Given the description of an element on the screen output the (x, y) to click on. 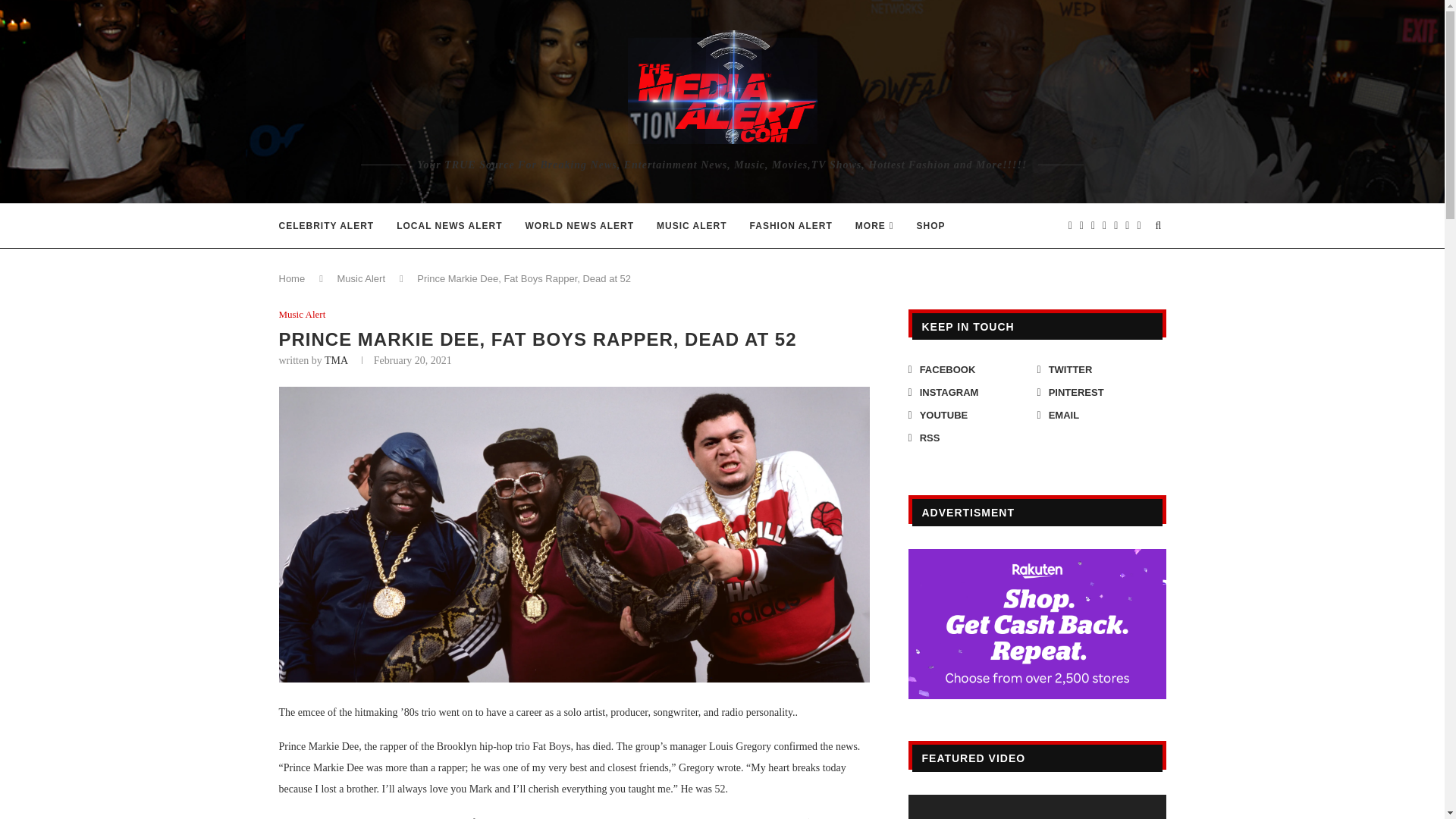
MUSIC ALERT (691, 225)
FASHION ALERT (790, 225)
CELEBRITY ALERT (326, 225)
LOCAL NEWS ALERT (449, 225)
WORLD NEWS ALERT (578, 225)
